Given the description of an element on the screen output the (x, y) to click on. 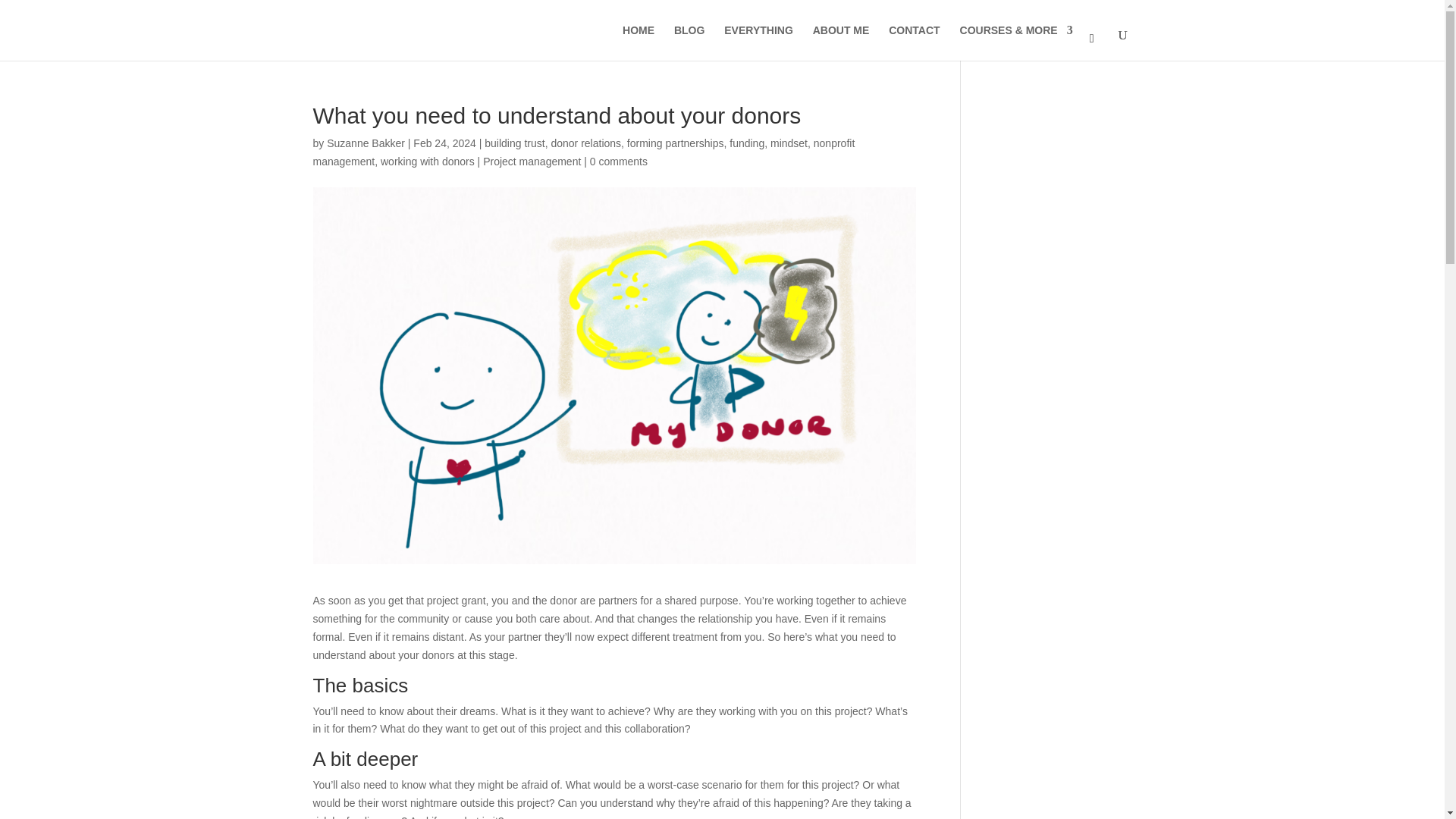
Project management (531, 161)
Suzanne Bakker (365, 143)
forming partnerships (675, 143)
ABOUT ME (840, 42)
donor relations (585, 143)
funding (746, 143)
nonprofit management (583, 152)
working with donors (427, 161)
0 comments (618, 161)
mindset (789, 143)
